Given the description of an element on the screen output the (x, y) to click on. 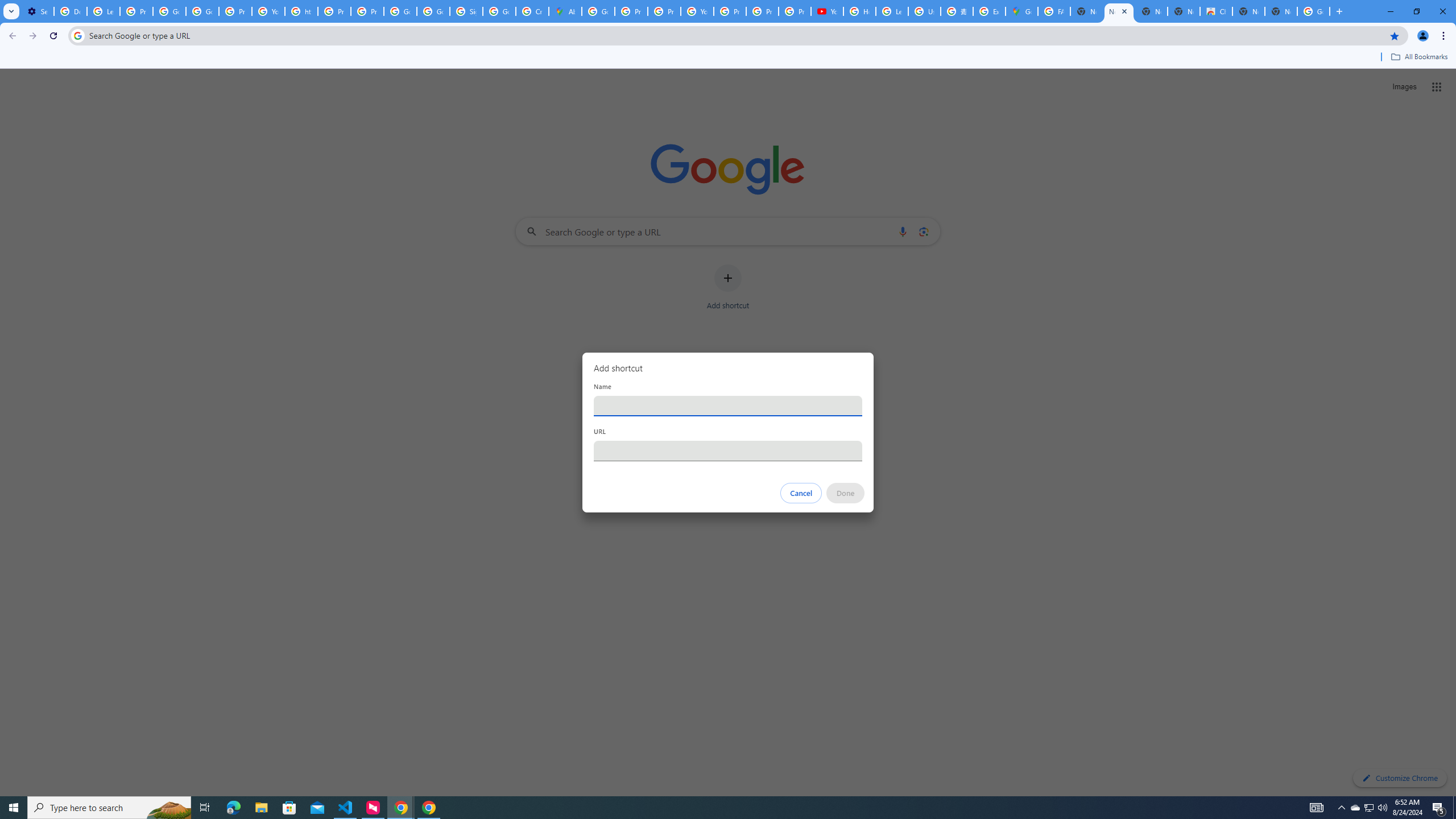
Chrome Web Store (1216, 11)
YouTube (827, 11)
Delete photos & videos - Computer - Google Photos Help (70, 11)
Google Account Help (169, 11)
Privacy Help Center - Policies Help (663, 11)
